Given the description of an element on the screen output the (x, y) to click on. 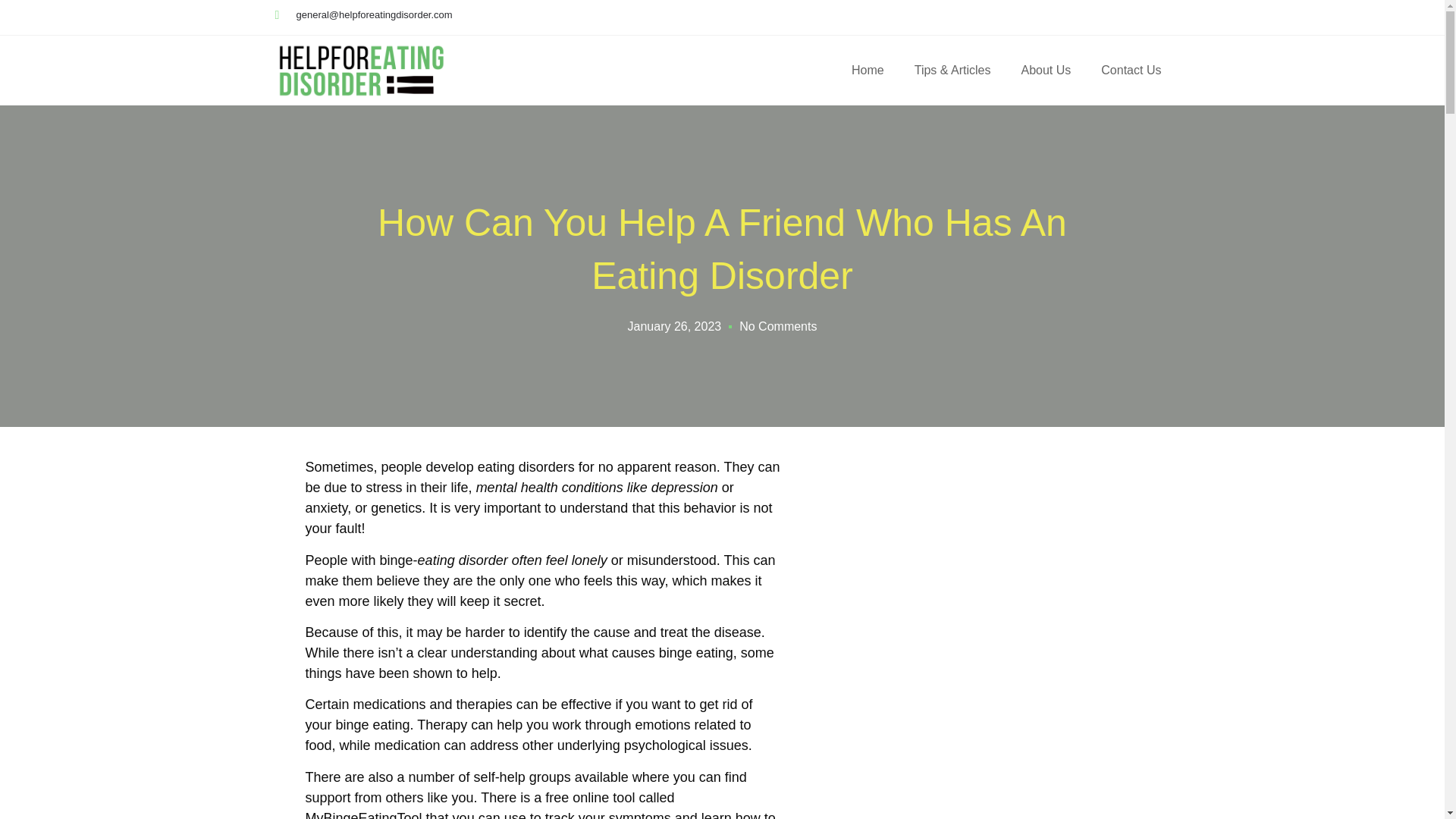
January 26, 2023 (674, 326)
Home (867, 70)
Contact Us (1131, 70)
About Us (1046, 70)
No Comments (777, 326)
